Given the description of an element on the screen output the (x, y) to click on. 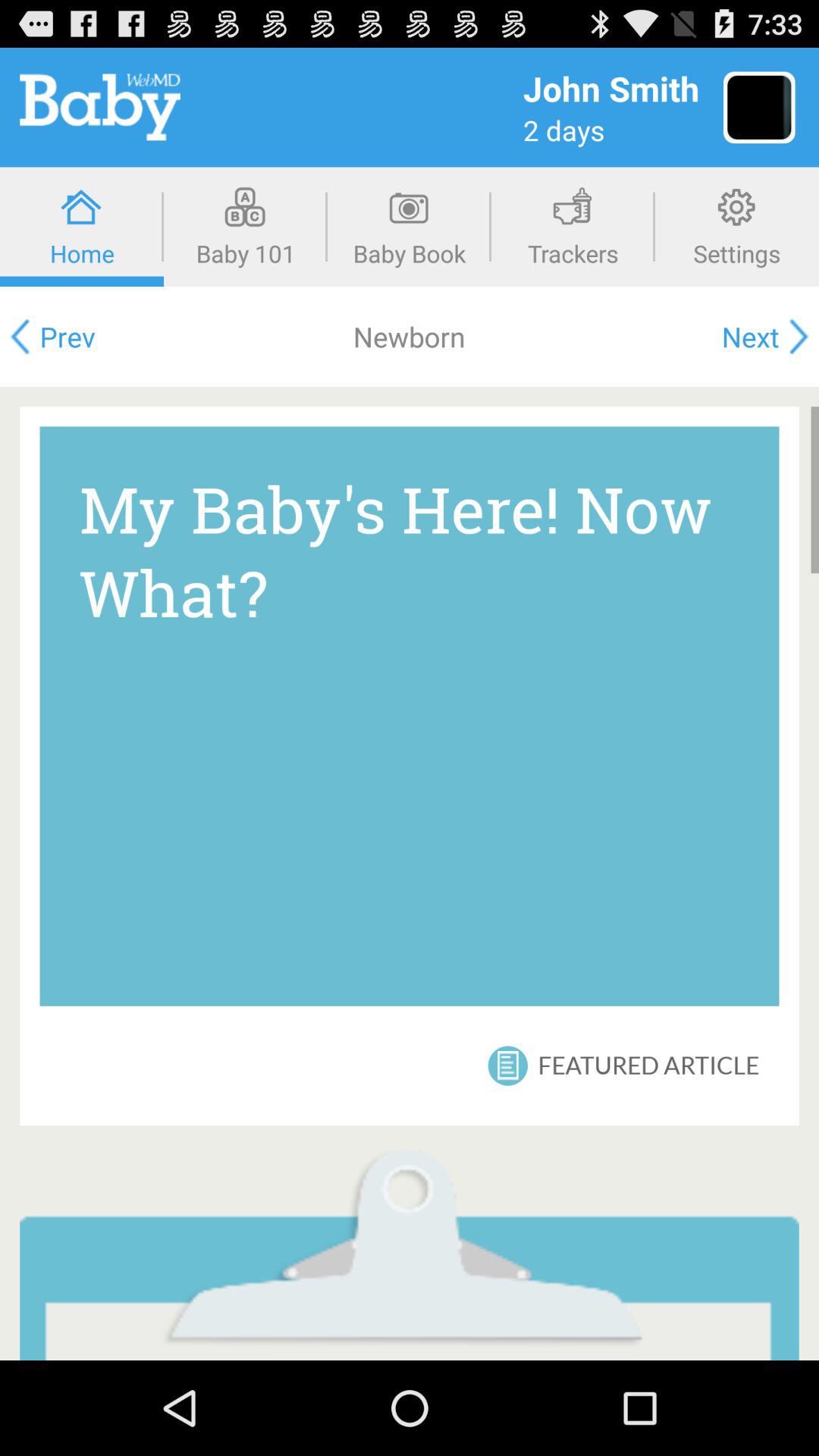
click the item below my baby s icon (507, 1065)
